Given the description of an element on the screen output the (x, y) to click on. 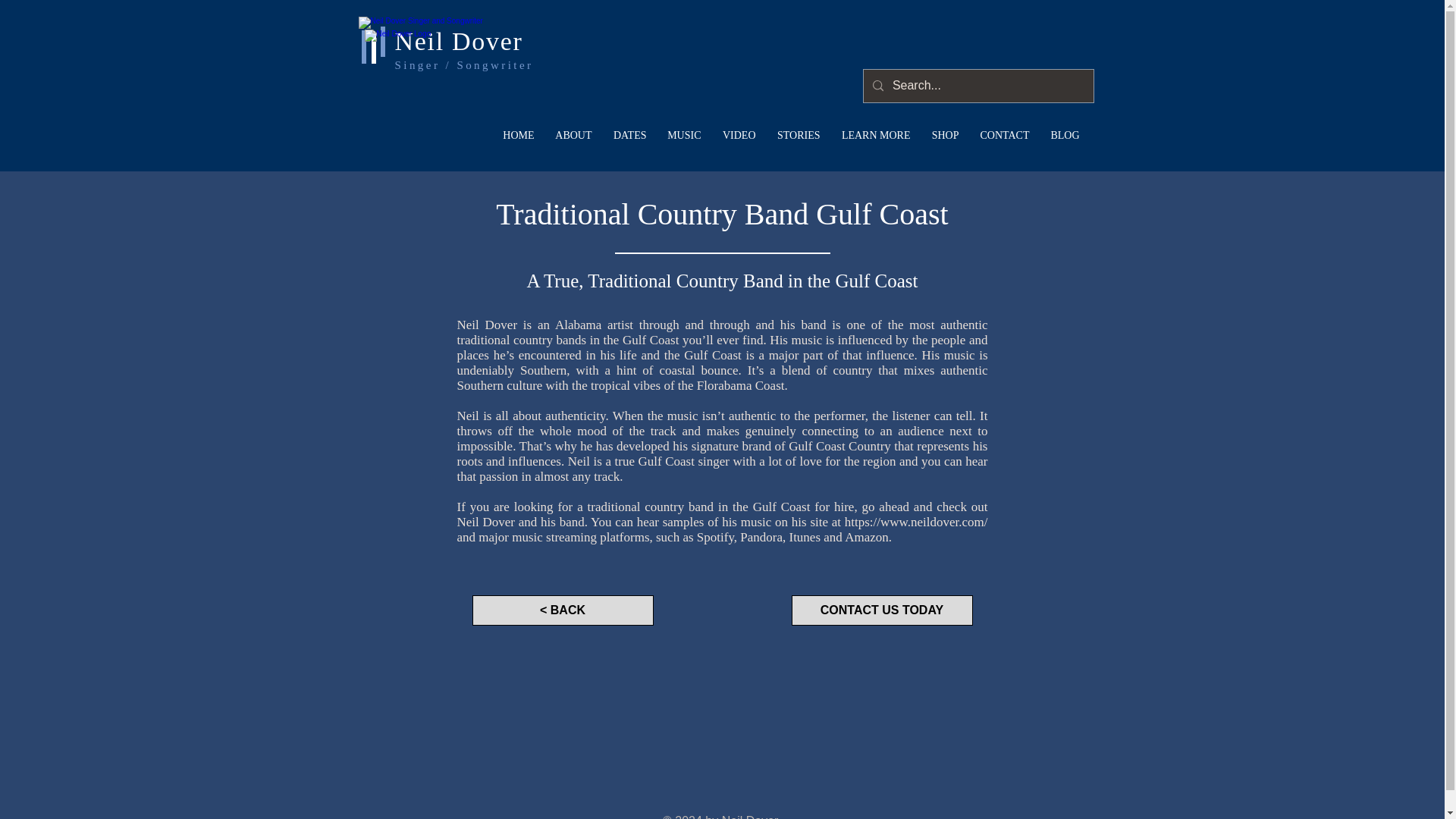
VIDEO (738, 135)
BLOG (1064, 135)
CONTACT US TODAY (882, 610)
SHOP (944, 135)
CONTACT (1004, 135)
DATES (629, 135)
STORIES (797, 135)
MUSIC (683, 135)
HOME (518, 135)
ABOUT (573, 135)
